Given the description of an element on the screen output the (x, y) to click on. 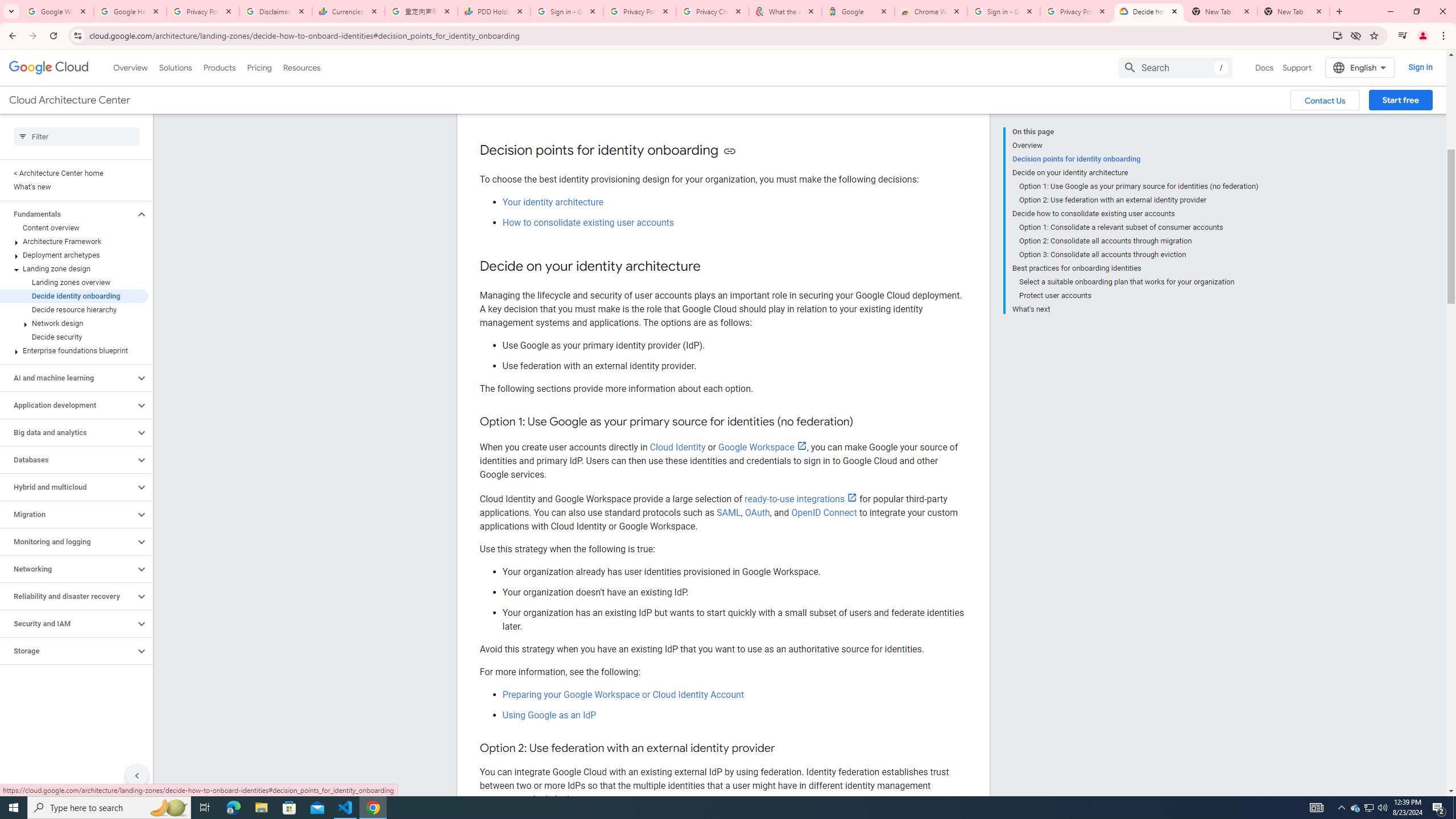
AI and machine learning (67, 377)
Sign in - Google Accounts (566, 11)
Currencies - Google Finance (348, 11)
Cloud Identity (677, 447)
Install Google Cloud (1336, 35)
Type to filter (76, 136)
Databases (67, 459)
SAML (728, 512)
